Given the description of an element on the screen output the (x, y) to click on. 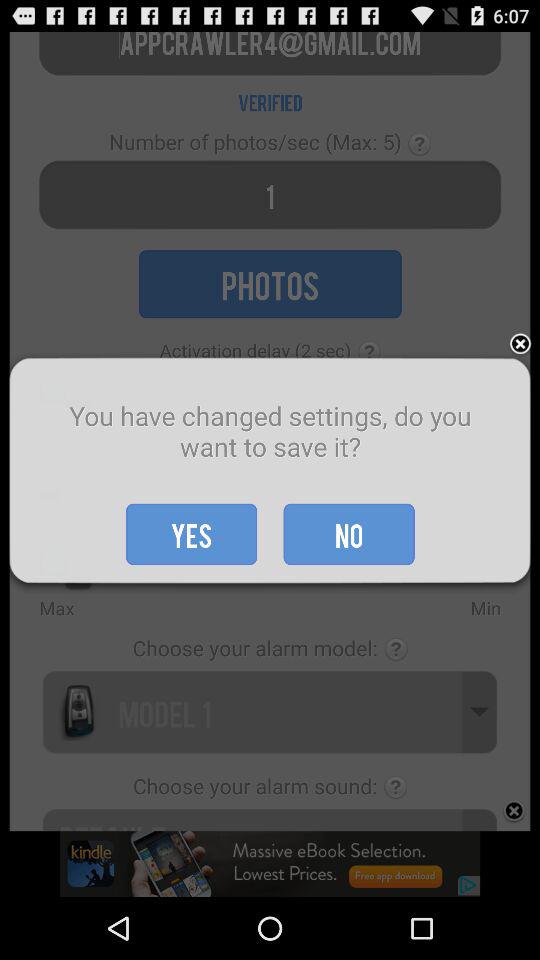
exit out of saved settings (520, 344)
